Given the description of an element on the screen output the (x, y) to click on. 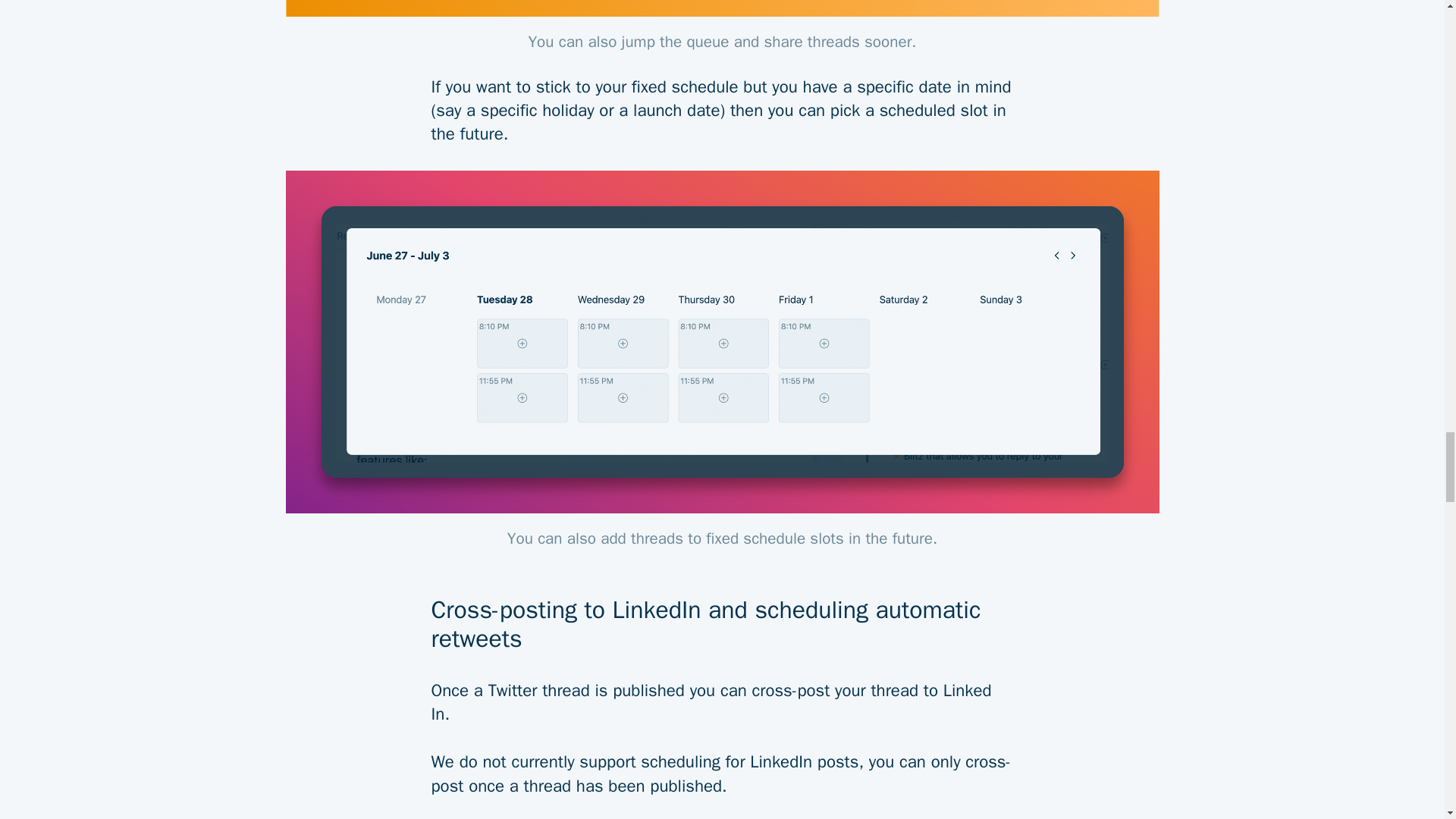
Cross-posting to LinkedIn and scheduling automatic retweets (721, 612)
